Given the description of an element on the screen output the (x, y) to click on. 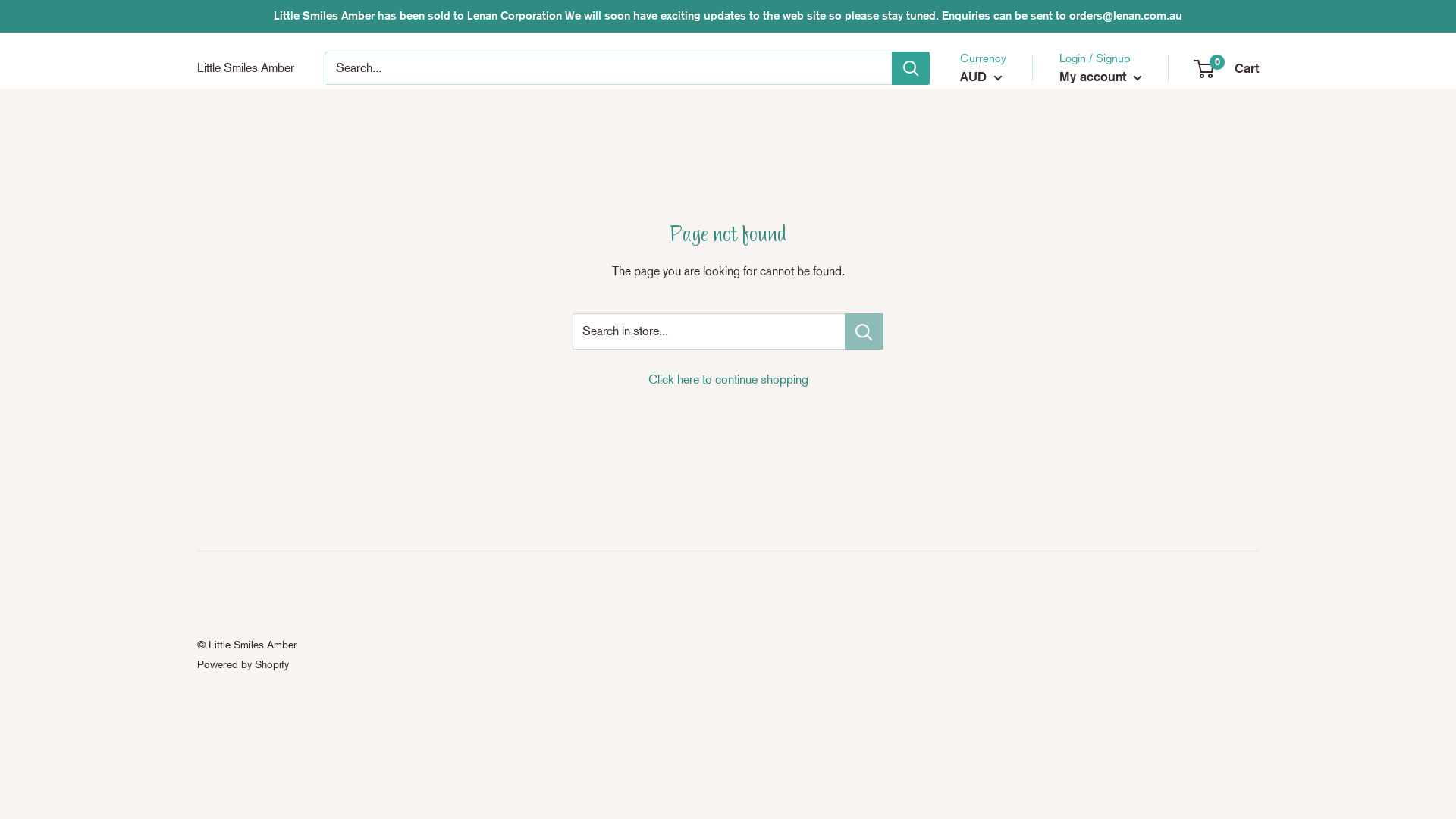
NZD Element type: text (993, 166)
SGD Element type: text (993, 189)
AUD Element type: text (993, 120)
Powered by Shopify Element type: text (242, 664)
Little Smiles Amber Element type: text (245, 67)
AUD Element type: text (981, 76)
Click here to continue shopping Element type: text (727, 379)
HKD Element type: text (993, 143)
My account Element type: text (1100, 76)
0
Cart Element type: text (1226, 68)
